Given the description of an element on the screen output the (x, y) to click on. 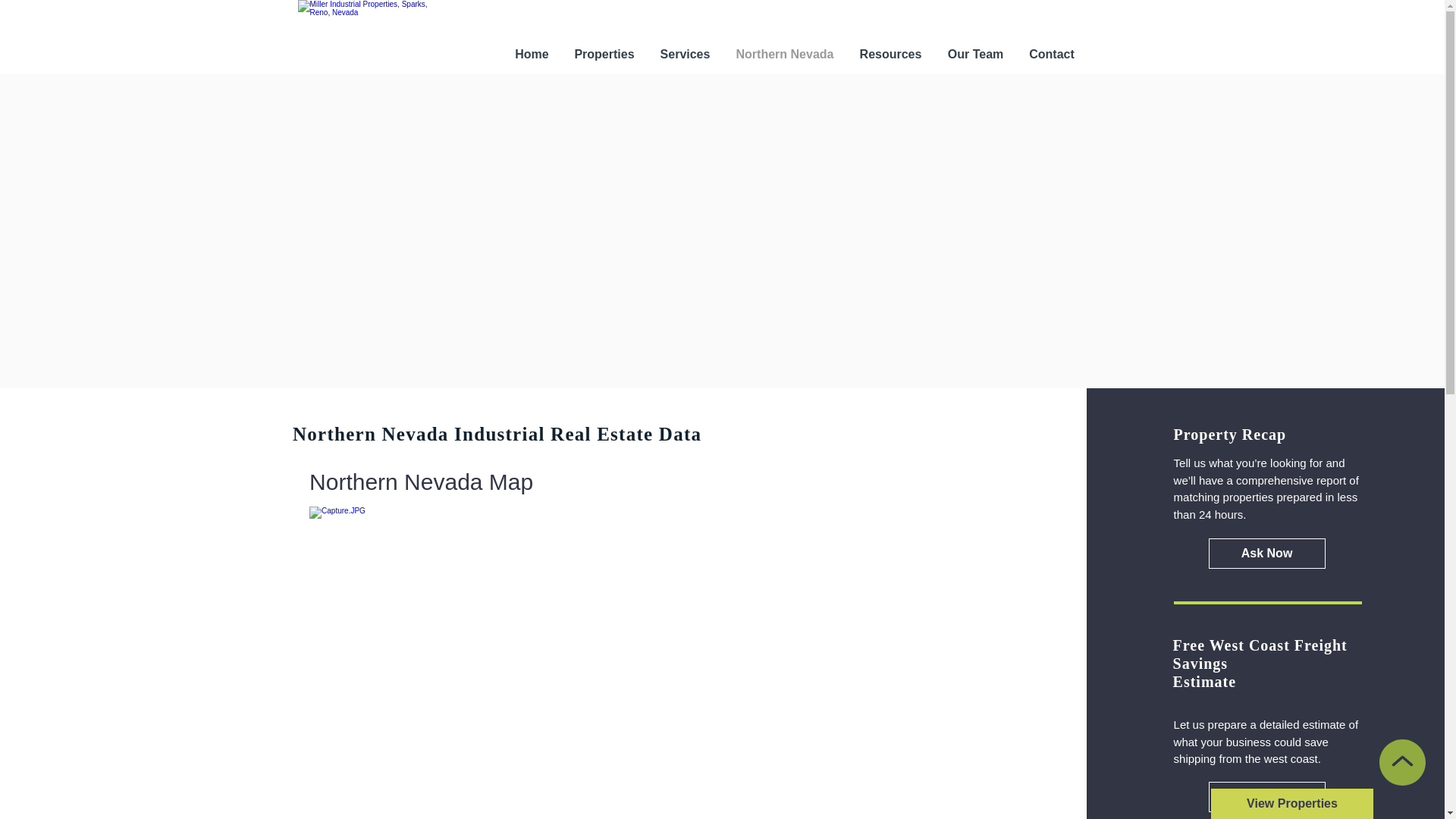
Home (531, 54)
Contact (1051, 54)
Northern Nevada (785, 54)
Our Team (975, 54)
Properties (603, 54)
Free Estimate (1266, 796)
Services (685, 54)
Resources (889, 54)
Ask Now (1266, 553)
